Given the description of an element on the screen output the (x, y) to click on. 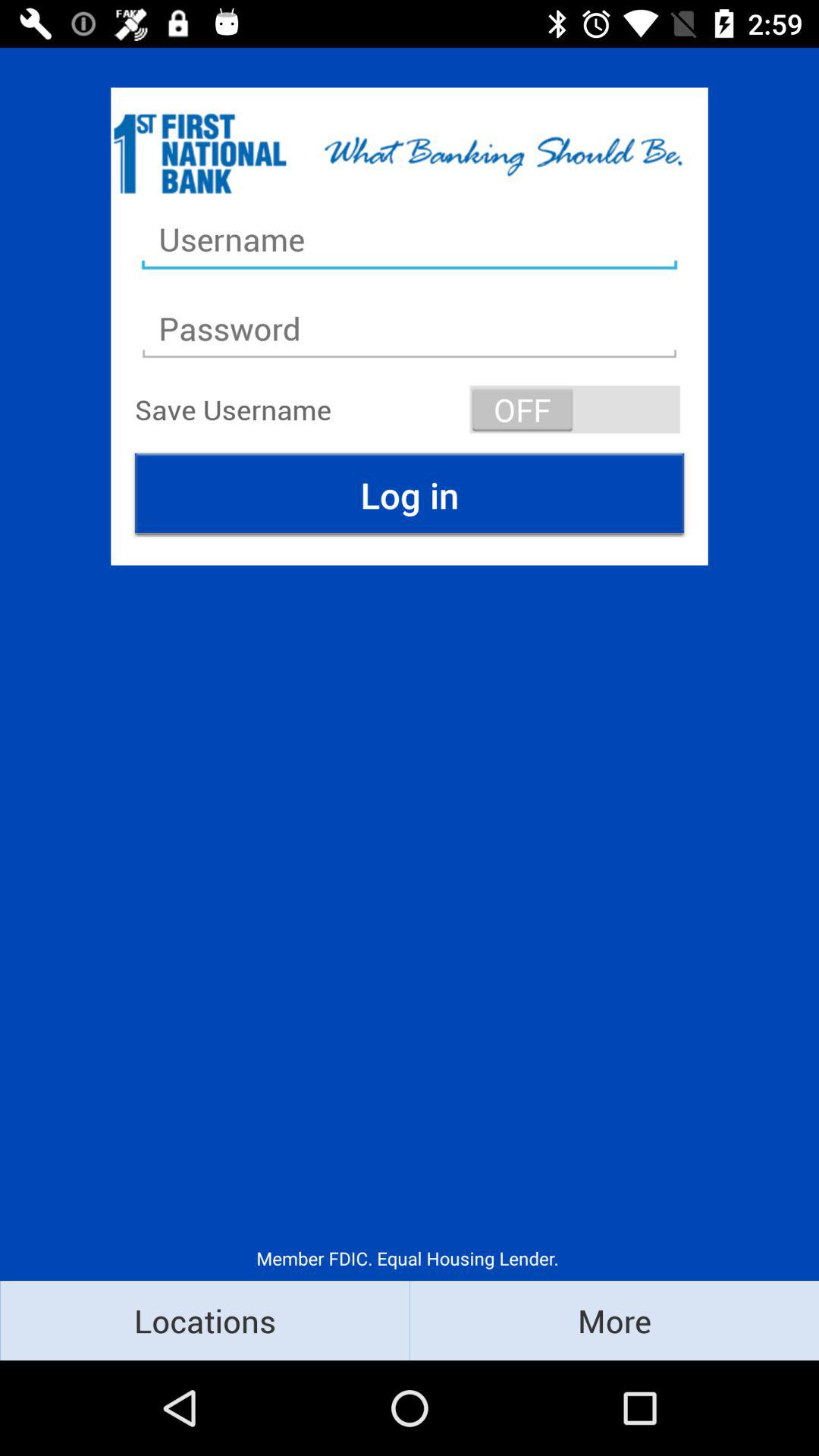
launch the item to the right of the save username (574, 409)
